Given the description of an element on the screen output the (x, y) to click on. 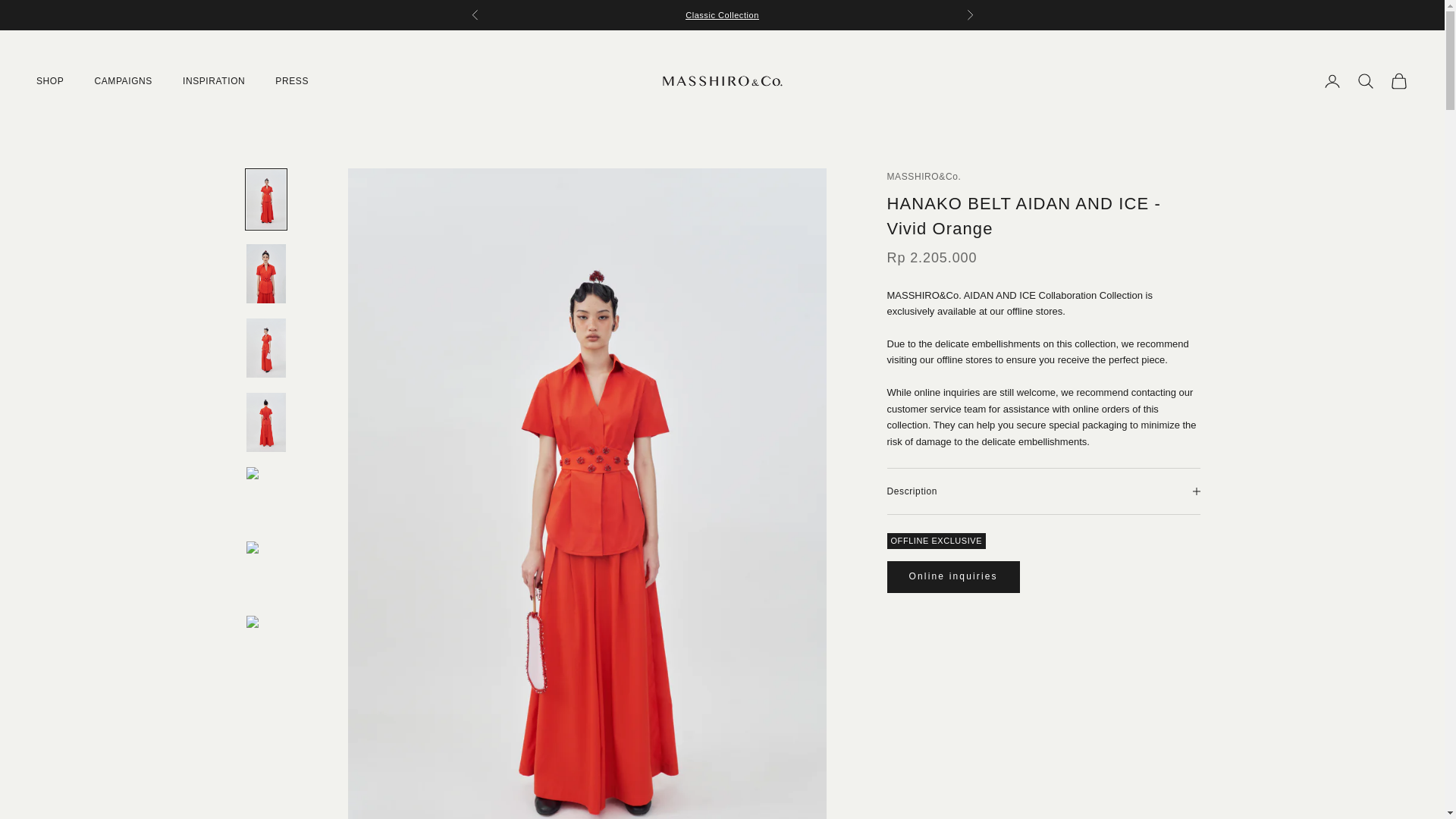
CLASSIC COLLECTION (721, 14)
Classic Collection (721, 14)
